Given the description of an element on the screen output the (x, y) to click on. 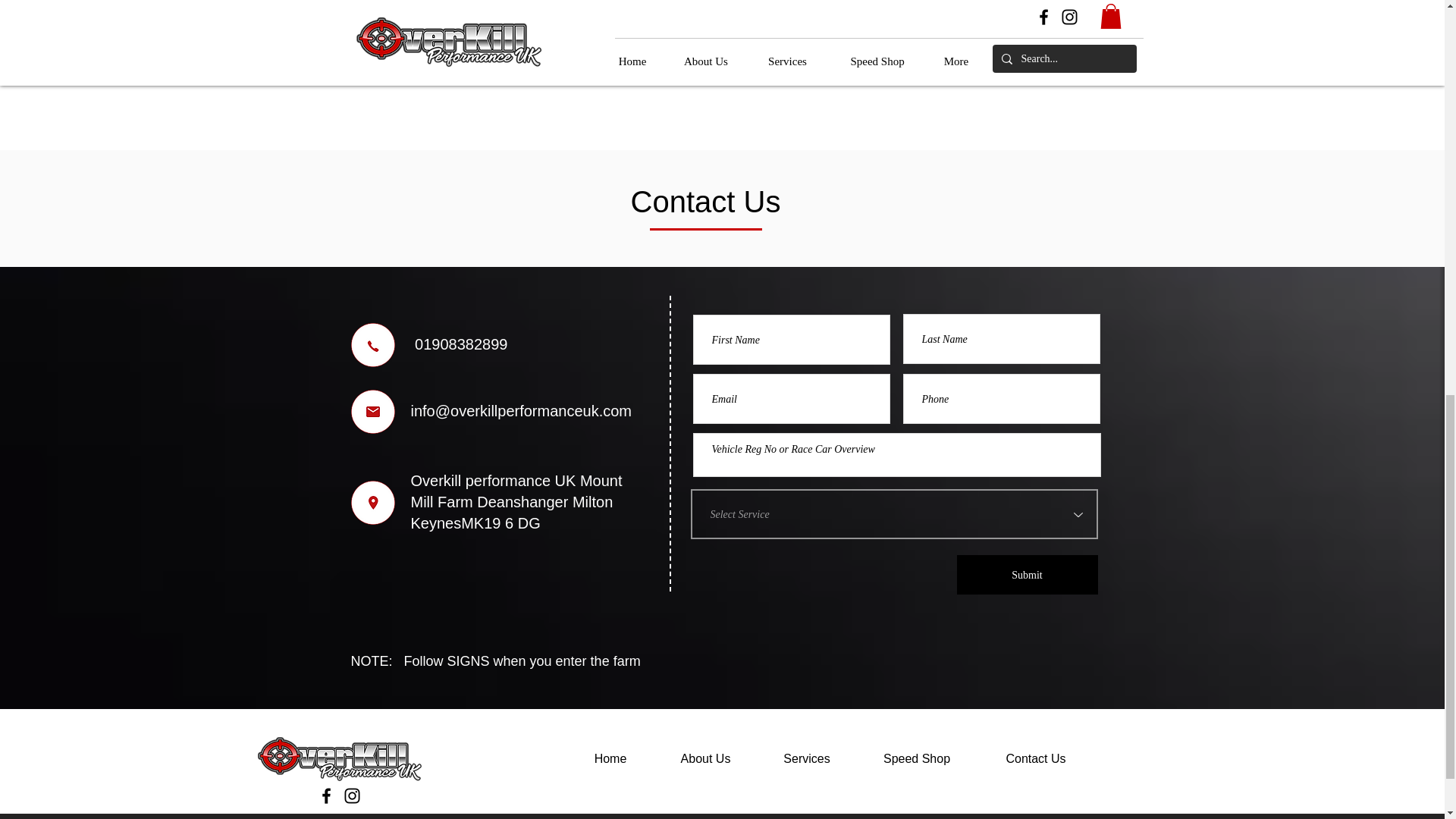
Services (807, 759)
Home (609, 759)
About Us (705, 759)
Submit (1026, 574)
